Given the description of an element on the screen output the (x, y) to click on. 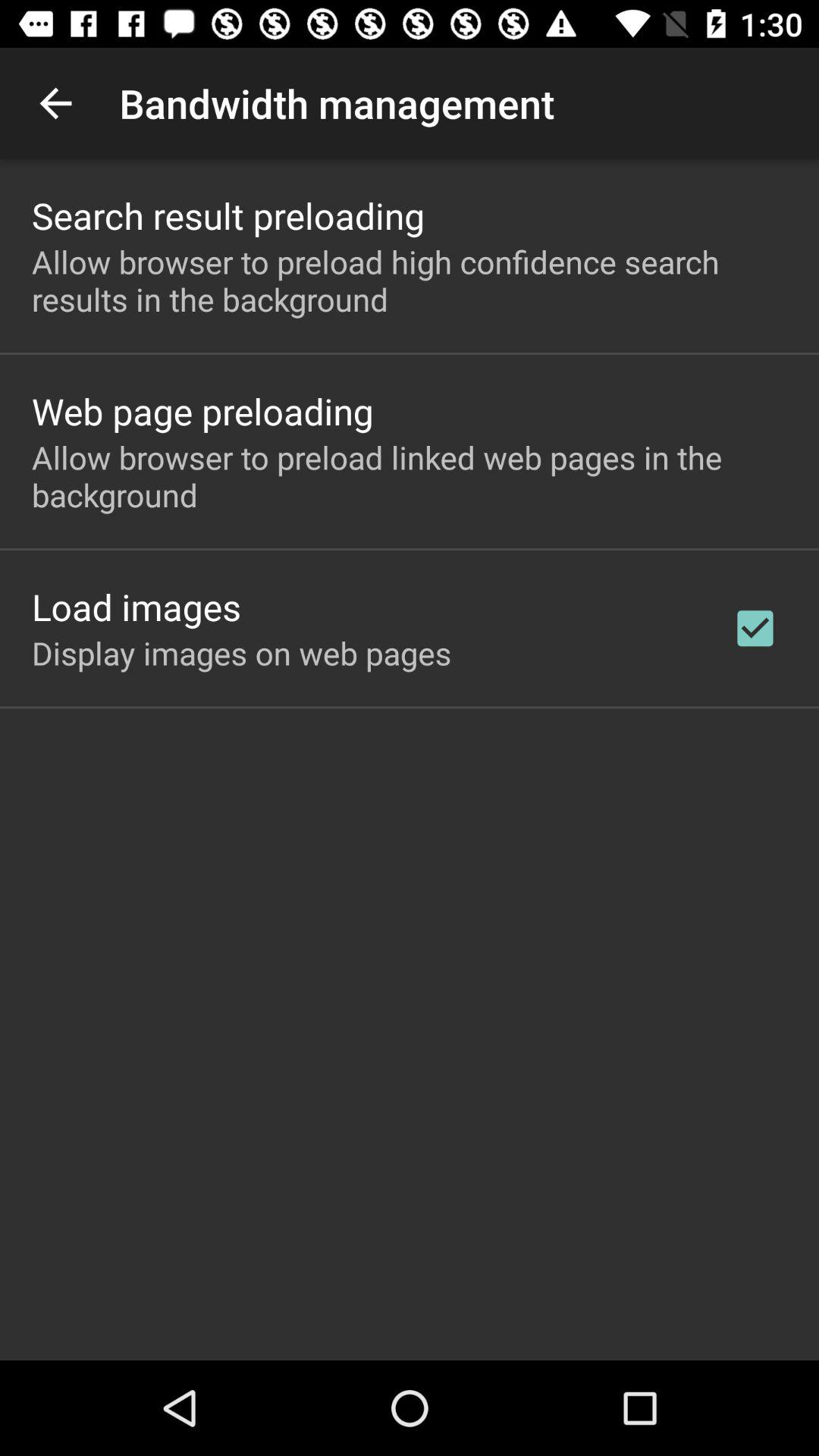
choose the item above the search result preloading item (55, 103)
